Given the description of an element on the screen output the (x, y) to click on. 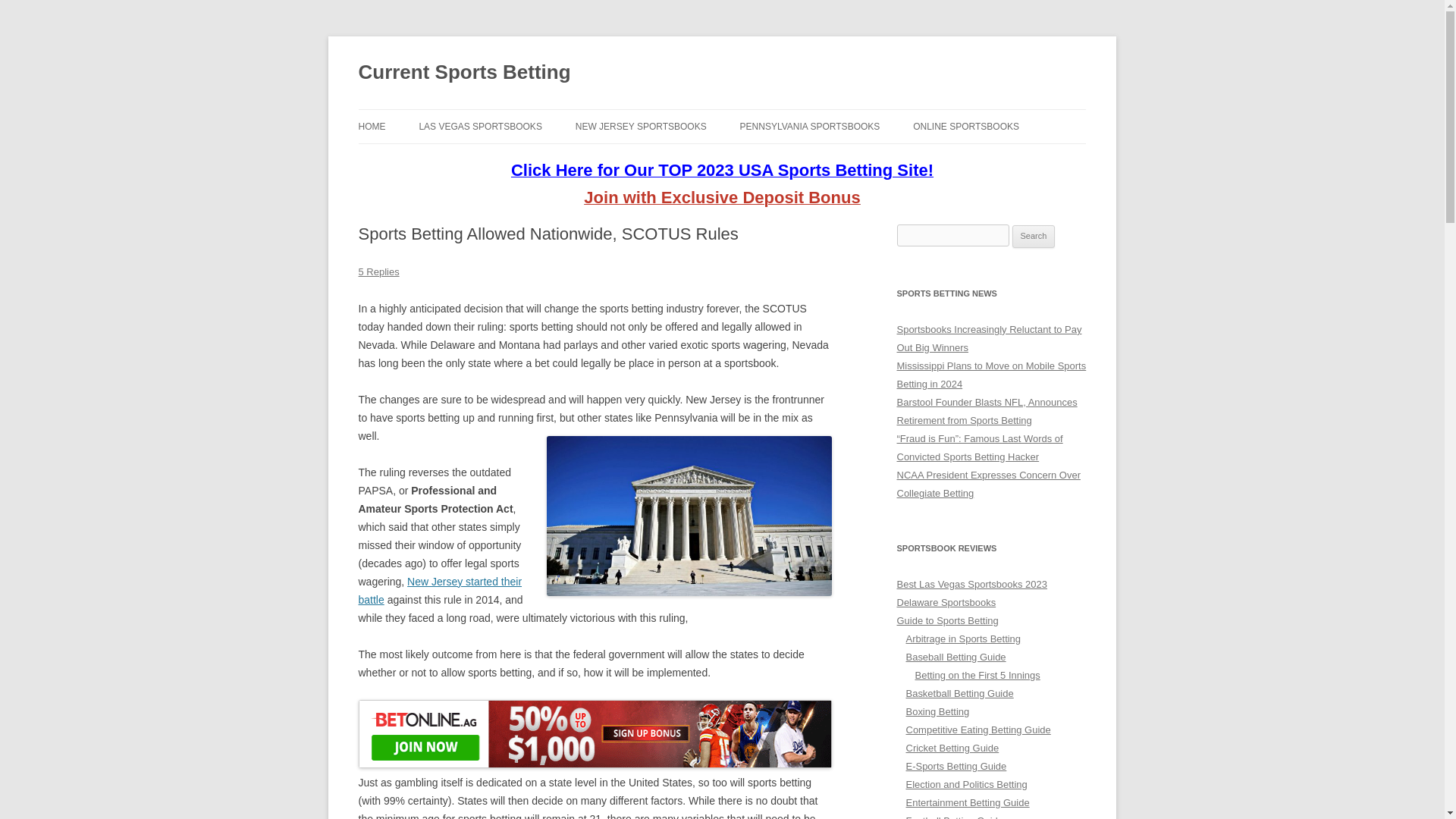
LAS VEGAS SPORTSBOOKS (480, 126)
ONLINE SPORTSBOOKS (965, 126)
PENNSYLVANIA SPORTSBOOKS (809, 126)
Current Sports Betting (464, 72)
Search (1033, 236)
New Jersey started their battle (439, 590)
NCAA President Expresses Concern Over Collegiate Betting (988, 483)
Mississippi Plans to Move on Mobile Sports Betting in 2024 (991, 374)
5 Replies (378, 271)
Join with Exclusive Deposit Bonus (721, 199)
Search (1033, 236)
Click Here for Our TOP 2023 USA Sports Betting Site! (722, 172)
